Given the description of an element on the screen output the (x, y) to click on. 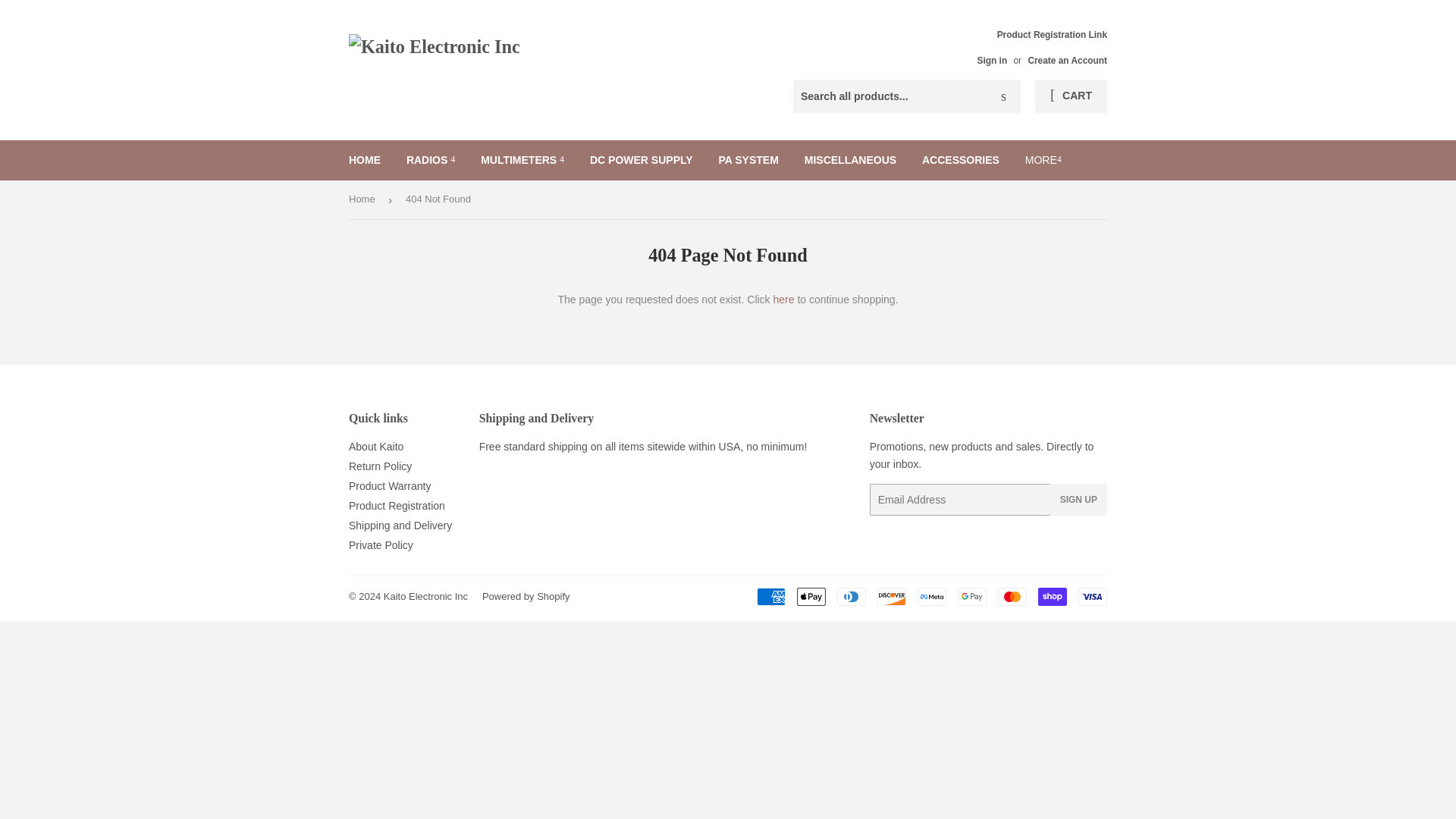
Meta Pay (931, 597)
Discover (891, 597)
Visa (1092, 597)
Apple Pay (810, 597)
Mastercard (1011, 597)
DC POWER SUPPLY (641, 159)
American Express (771, 597)
Diners Club (851, 597)
Sign in (991, 60)
Shop Pay (1052, 597)
Google Pay (972, 597)
MULTIMETERS (521, 159)
HOME (364, 159)
Create an Account (1066, 60)
RADIOS (429, 159)
